Given the description of an element on the screen output the (x, y) to click on. 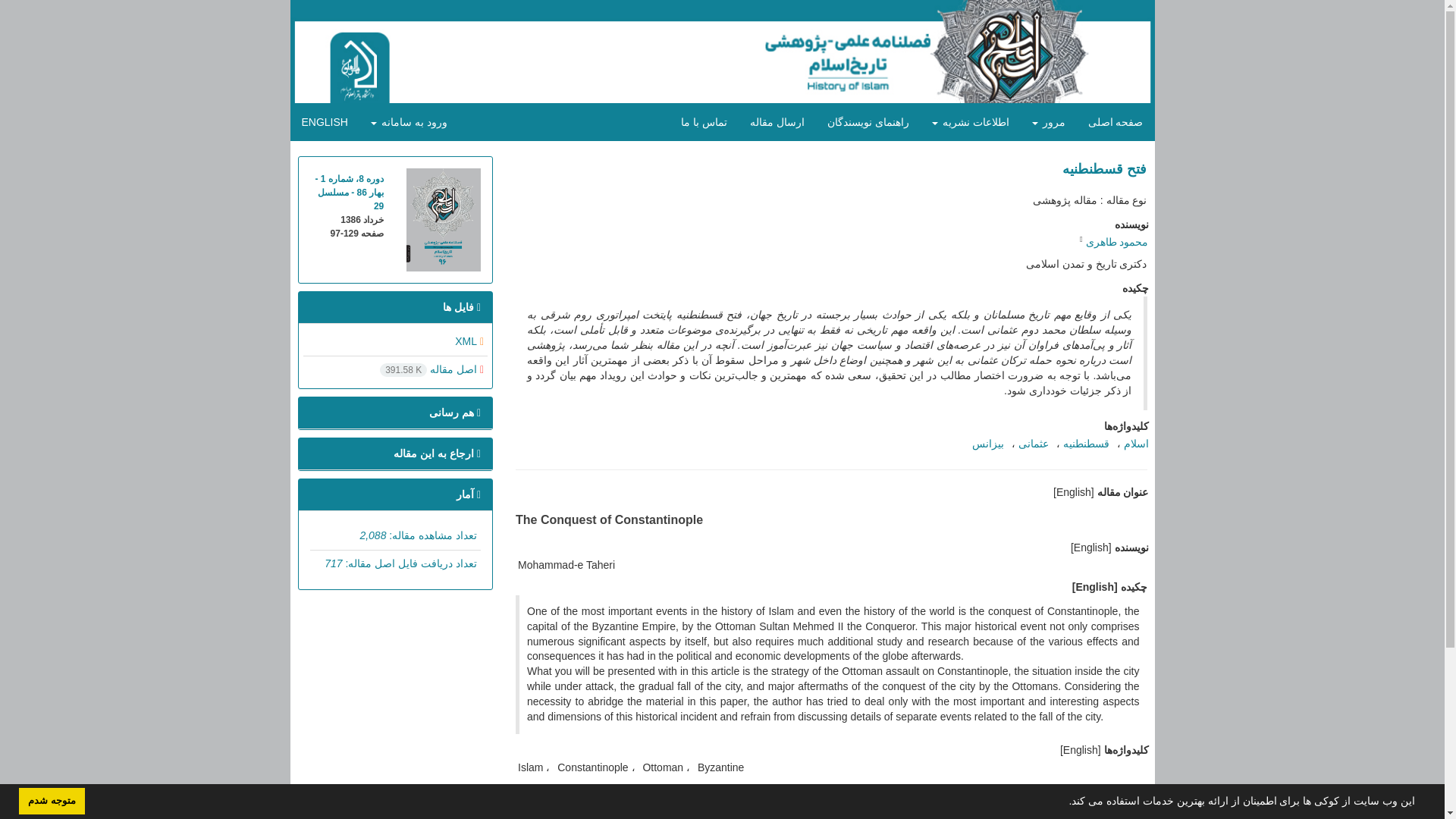
ENGLISH (323, 121)
XML (468, 340)
